Given the description of an element on the screen output the (x, y) to click on. 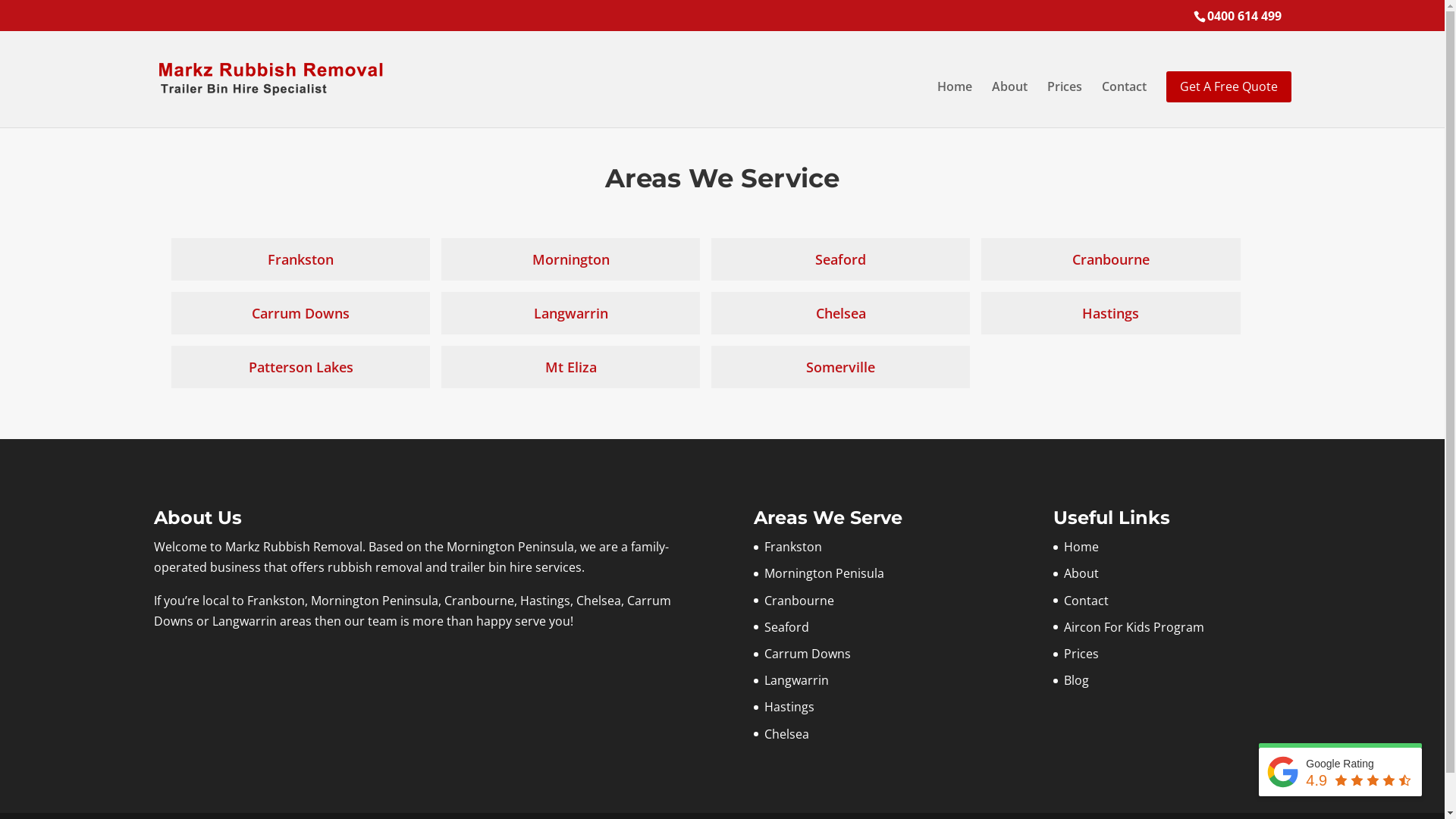
Hastings Element type: text (789, 706)
Carrum Downs Element type: text (300, 313)
Seaford Element type: text (840, 259)
Home Element type: text (1080, 546)
Home Element type: text (954, 98)
Carrum Downs Element type: text (807, 653)
About Element type: text (1080, 572)
Mornington Element type: text (570, 259)
Contact Element type: text (1085, 600)
Cranbourne Element type: text (1110, 259)
Langwarrin Element type: text (796, 679)
Mt Eliza Element type: text (570, 366)
Chelsea Element type: text (840, 313)
Blog Element type: text (1075, 679)
Get A Free Quote Element type: text (1228, 91)
0400 614 499 Element type: text (1244, 15)
Langwarrin Element type: text (570, 313)
Somerville Element type: text (840, 366)
Patterson Lakes Element type: text (300, 366)
Prices Element type: text (1063, 98)
0400 614 499 Element type: text (1242, 15)
Cranbourne Element type: text (799, 600)
Frankston Element type: text (793, 546)
Contact Element type: text (1123, 98)
About Element type: text (1009, 98)
Chelsea Element type: text (786, 733)
Seaford Element type: text (786, 626)
Hastings Element type: text (1110, 313)
Frankston Element type: text (300, 259)
Mornington Penisula Element type: text (824, 572)
Aircon For Kids Program Element type: text (1133, 626)
Prices Element type: text (1080, 653)
